Given the description of an element on the screen output the (x, y) to click on. 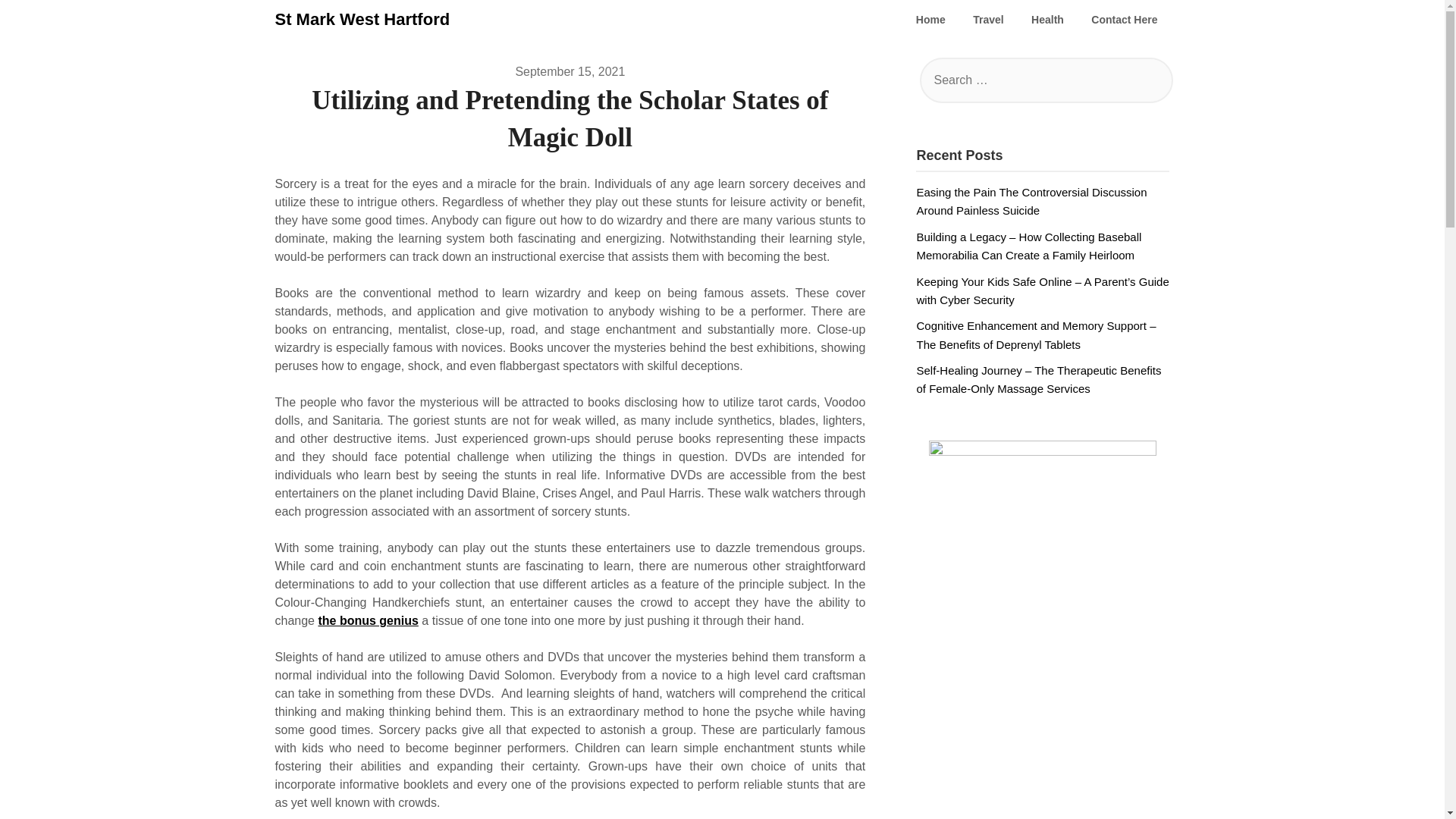
September 15, 2021 (569, 71)
Search (38, 22)
Health (1047, 20)
Contact Here (1123, 20)
St Mark West Hartford (362, 19)
Home (931, 20)
Travel (987, 20)
the bonus genius (367, 620)
